Given the description of an element on the screen output the (x, y) to click on. 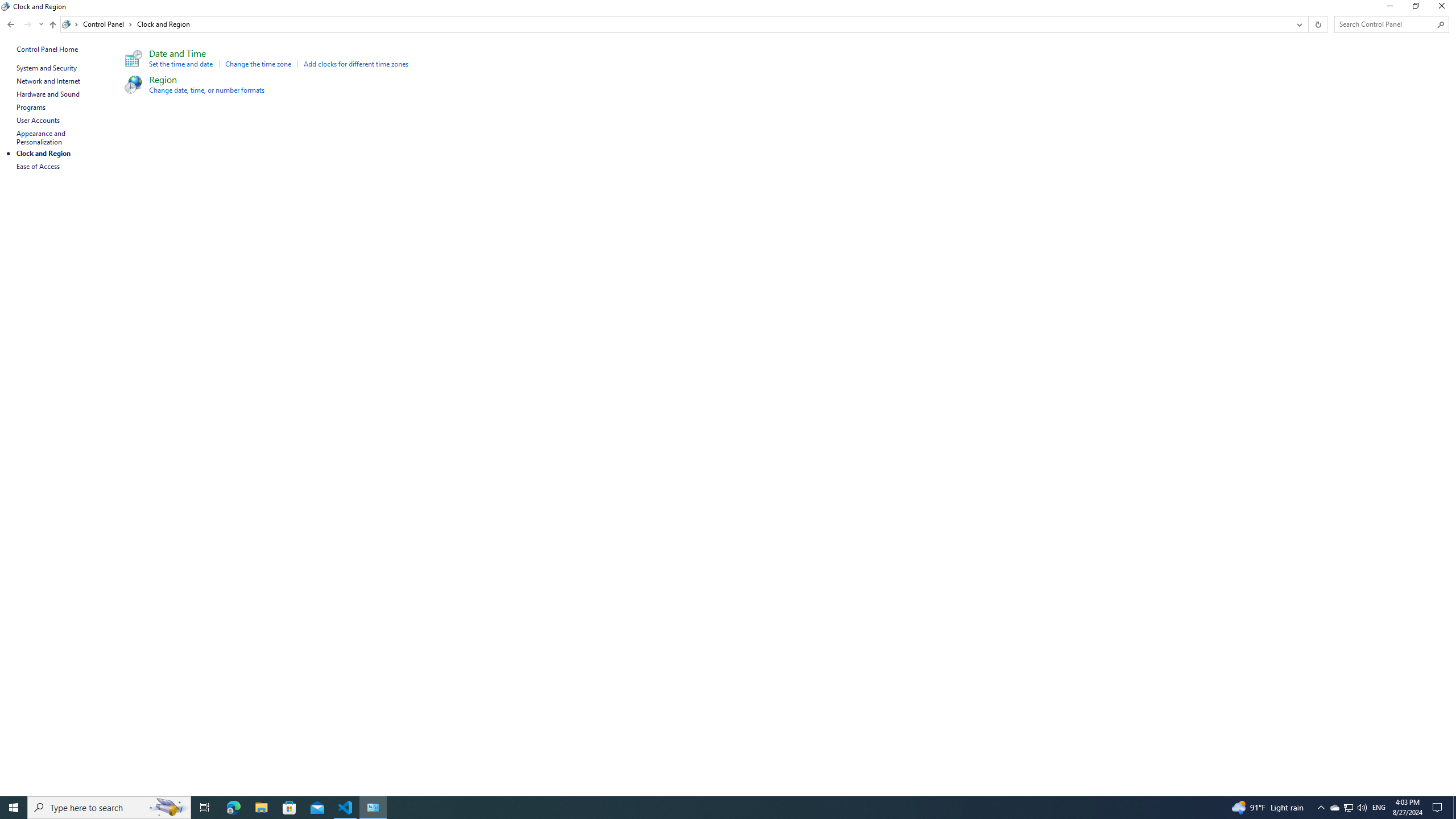
Network and Internet (48, 80)
System (6, 6)
System (6, 6)
Ease of Access (38, 166)
Programs (31, 107)
Search Box (1386, 23)
Hardware and Sound (48, 94)
All locations (70, 23)
Navigation buttons (24, 23)
